Given the description of an element on the screen output the (x, y) to click on. 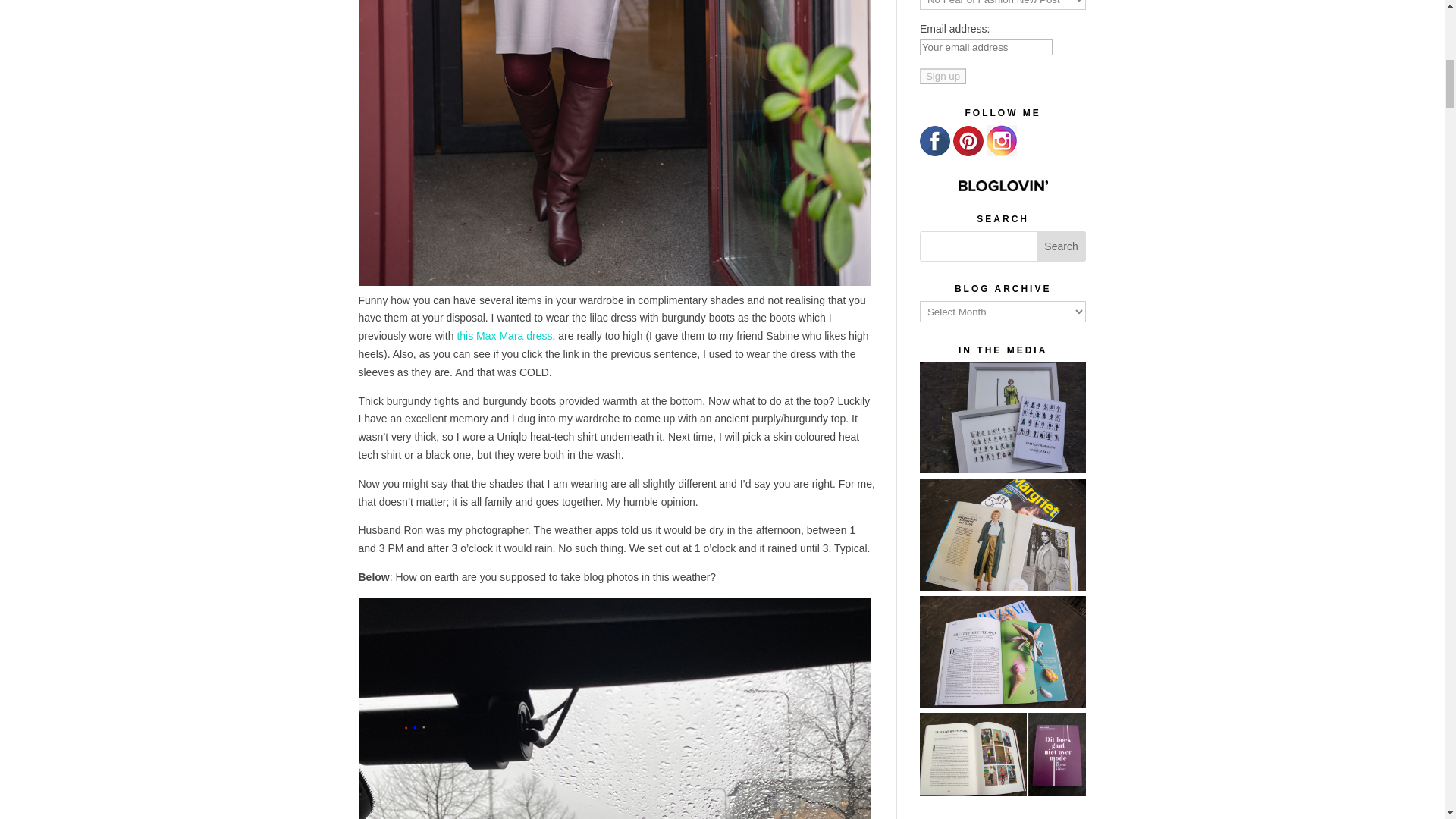
Follow No Fear of Fashion on Bloglovin (1003, 185)
Search (1061, 245)
this Max Mara dress (504, 336)
Sign up (943, 75)
